Given the description of an element on the screen output the (x, y) to click on. 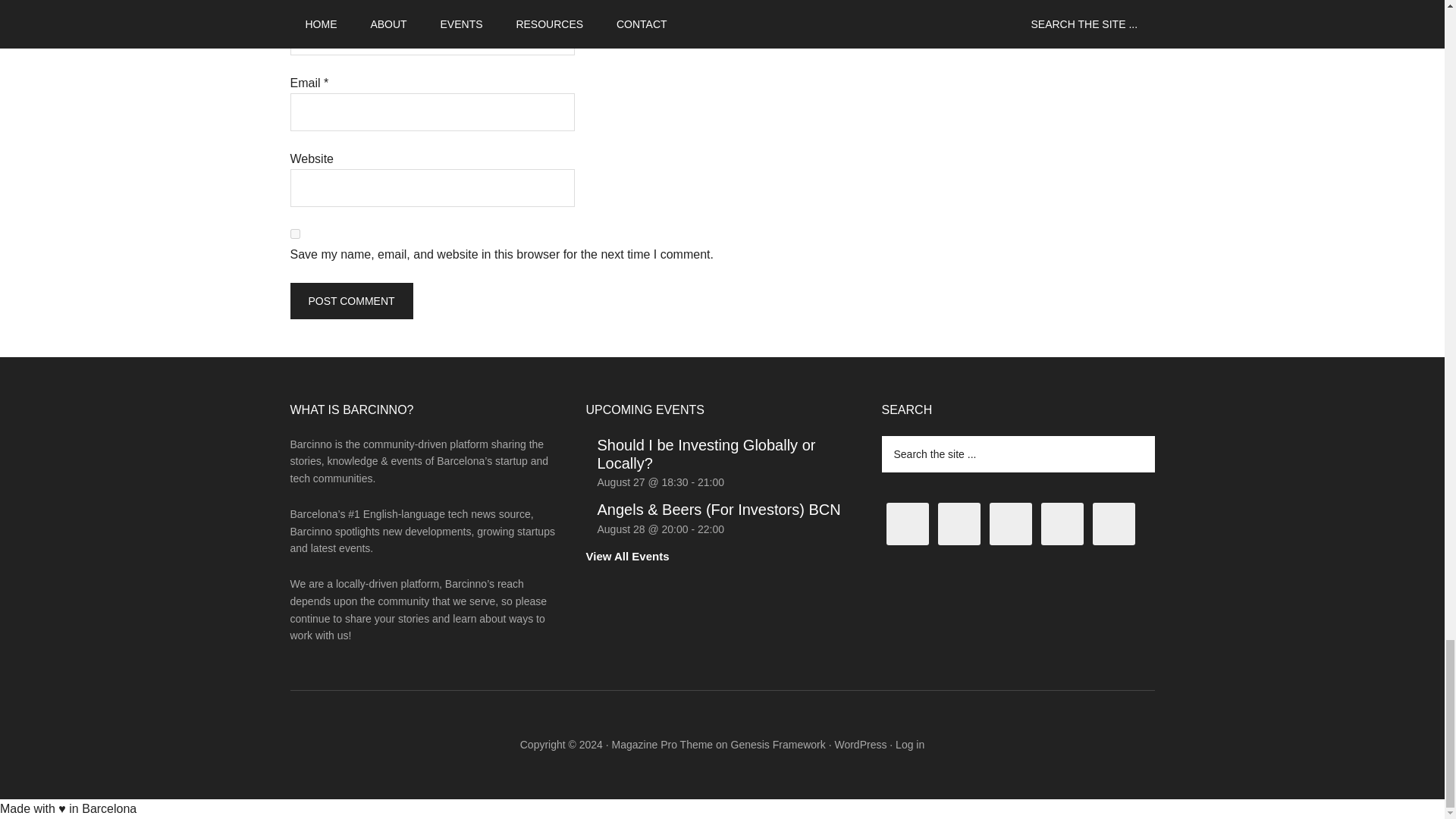
yes (294, 234)
Post Comment (350, 300)
